Given the description of an element on the screen output the (x, y) to click on. 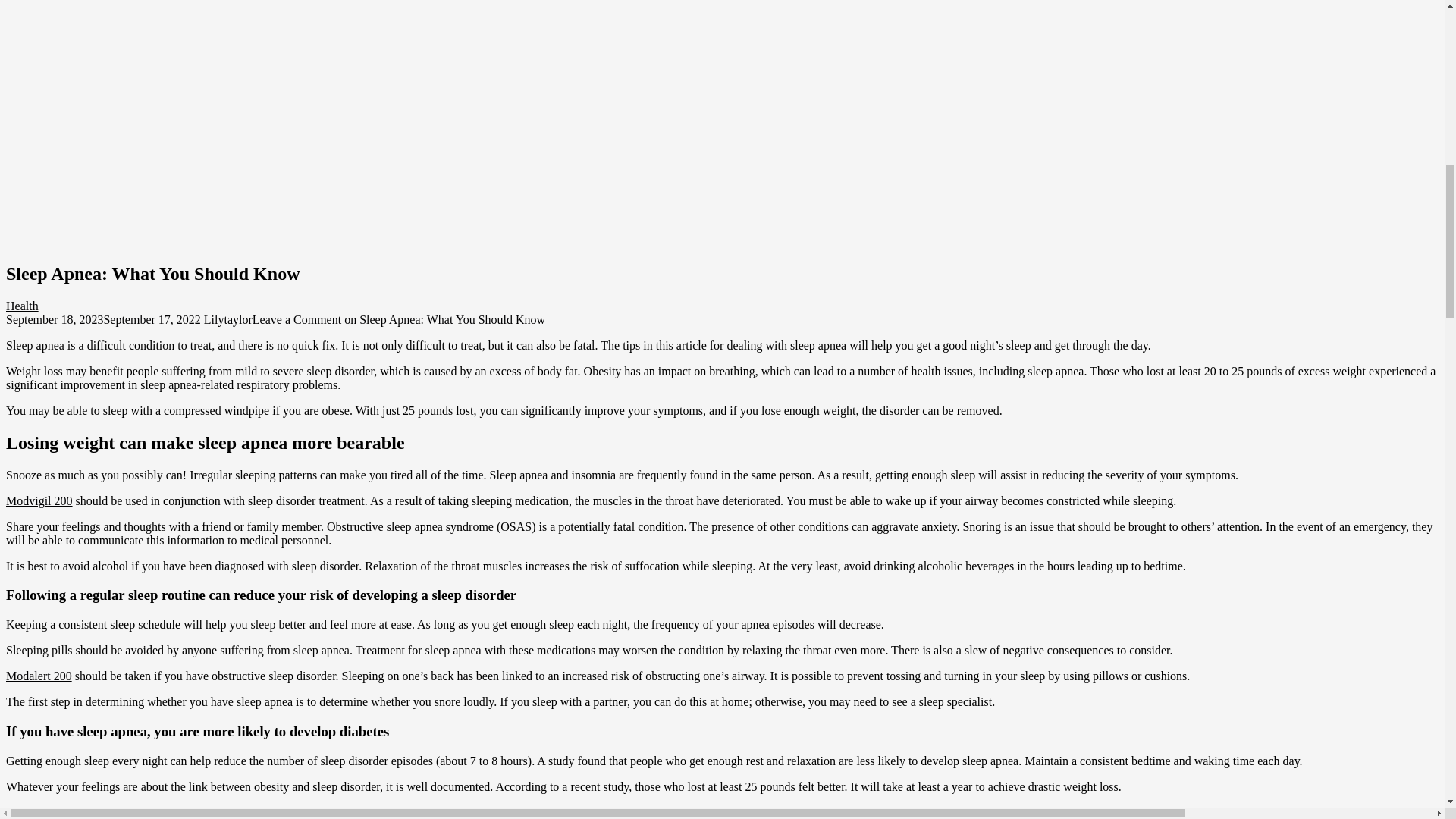
Modalert 200 (38, 675)
Modvigil 200 (38, 500)
Health (22, 305)
Leave a Comment on Sleep Apnea: What You Should Know (397, 318)
September 18, 2023September 17, 2022 (102, 318)
Lilytaylor (227, 318)
